Given the description of an element on the screen output the (x, y) to click on. 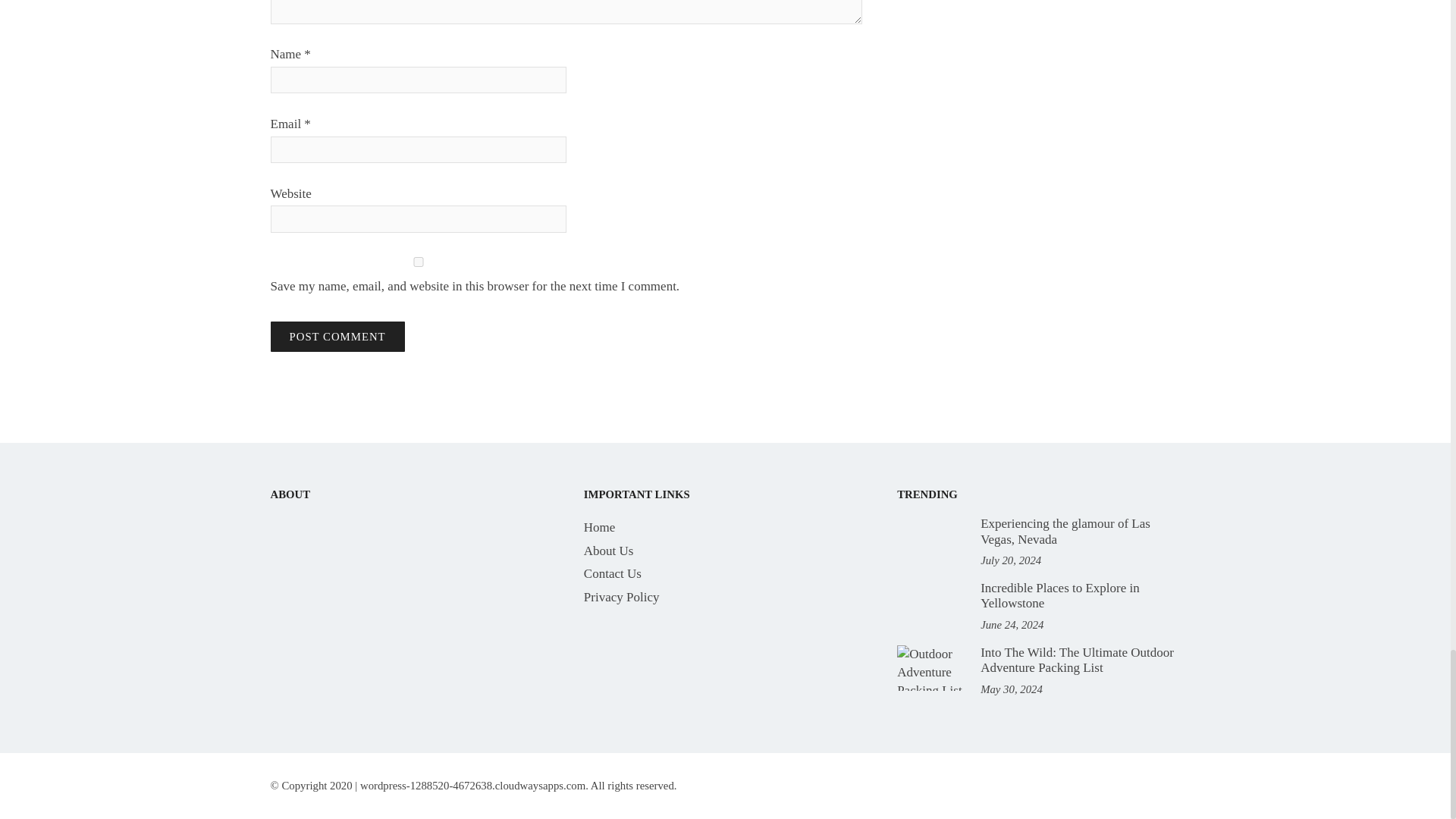
Incredible Places to Explore in Yellowstone (930, 603)
Permalink to Experiencing the glamour of Las Vegas, Nevada (1064, 531)
Experiencing the glamour of Las Vegas, Nevada (930, 538)
Post Comment (336, 336)
yes (417, 261)
Post Comment (336, 336)
